Given the description of an element on the screen output the (x, y) to click on. 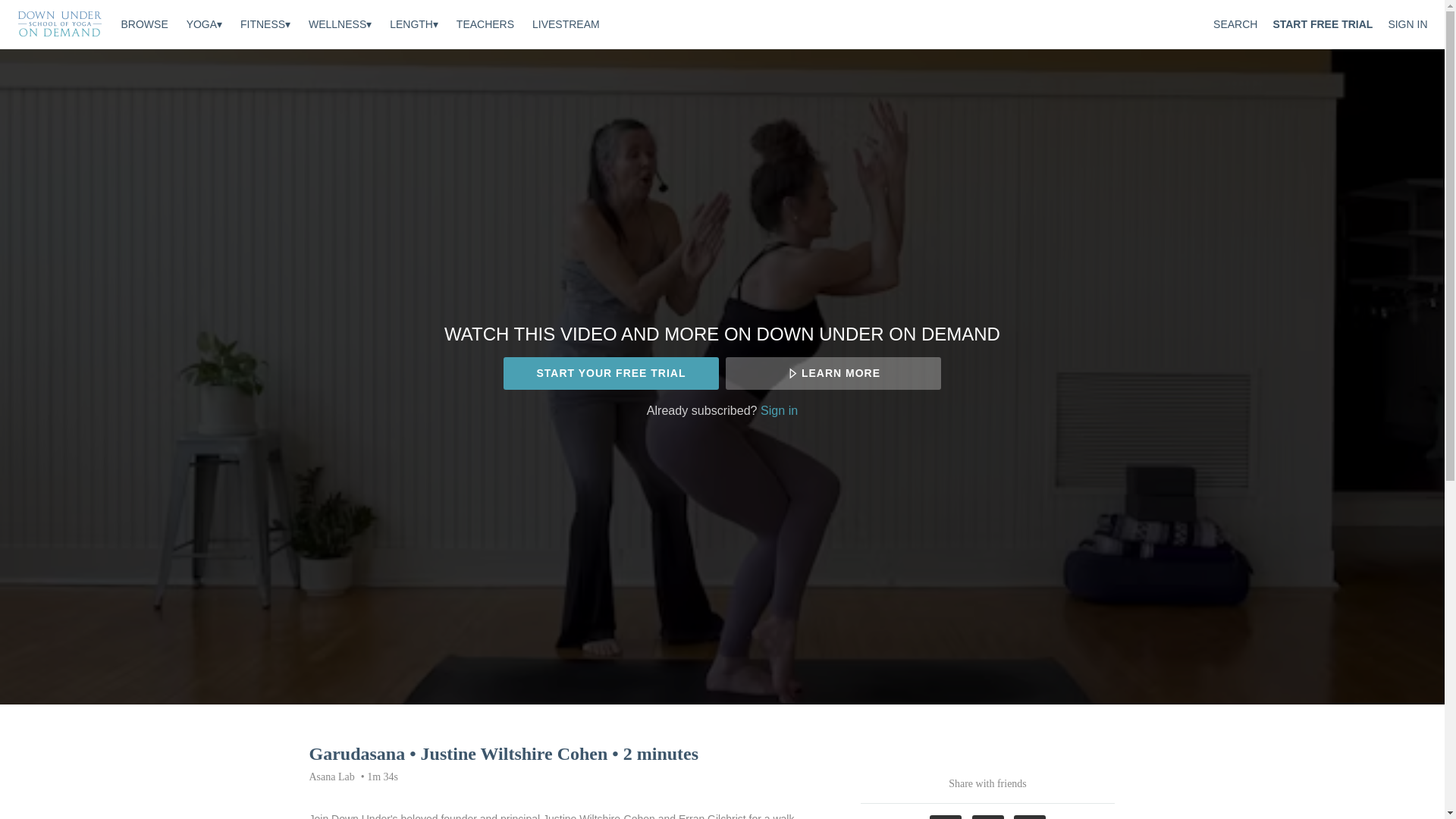
START YOUR FREE TRIAL (610, 373)
Skip to main content (48, 7)
SEARCH (1234, 24)
SIGN IN (1406, 24)
LEARN MORE (832, 373)
BROWSE (146, 24)
TEACHERS (484, 24)
START FREE TRIAL (1322, 24)
LIVESTREAM (565, 24)
